Given the description of an element on the screen output the (x, y) to click on. 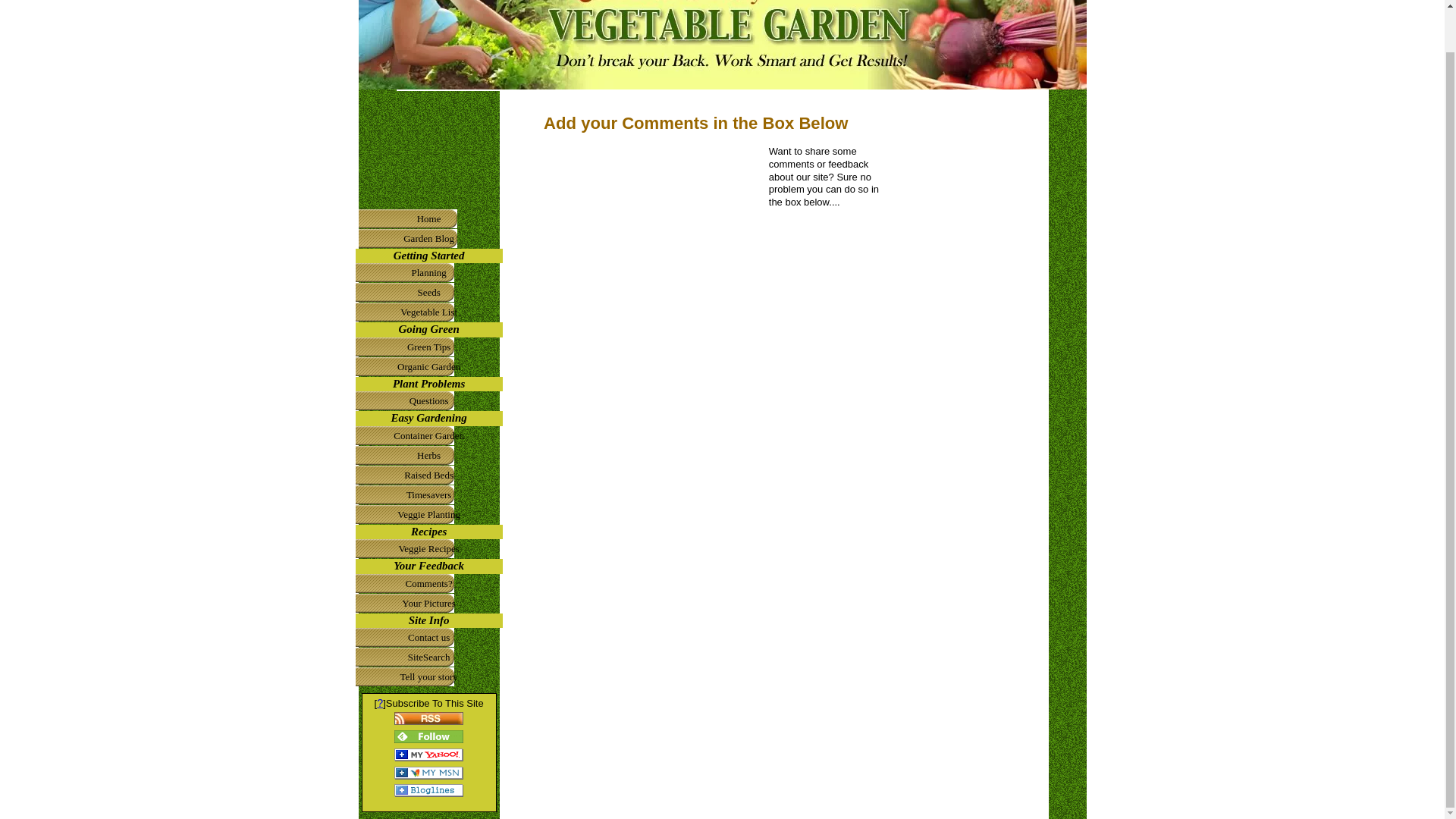
Your Pictures (428, 603)
SiteSearch (428, 657)
Garden Blog (428, 238)
Veggie Recipes (428, 548)
Home (428, 219)
Herbs (428, 455)
Raised Beds (428, 475)
Contact us (428, 637)
Vegetable List (428, 312)
Planning (428, 272)
